Given the description of an element on the screen output the (x, y) to click on. 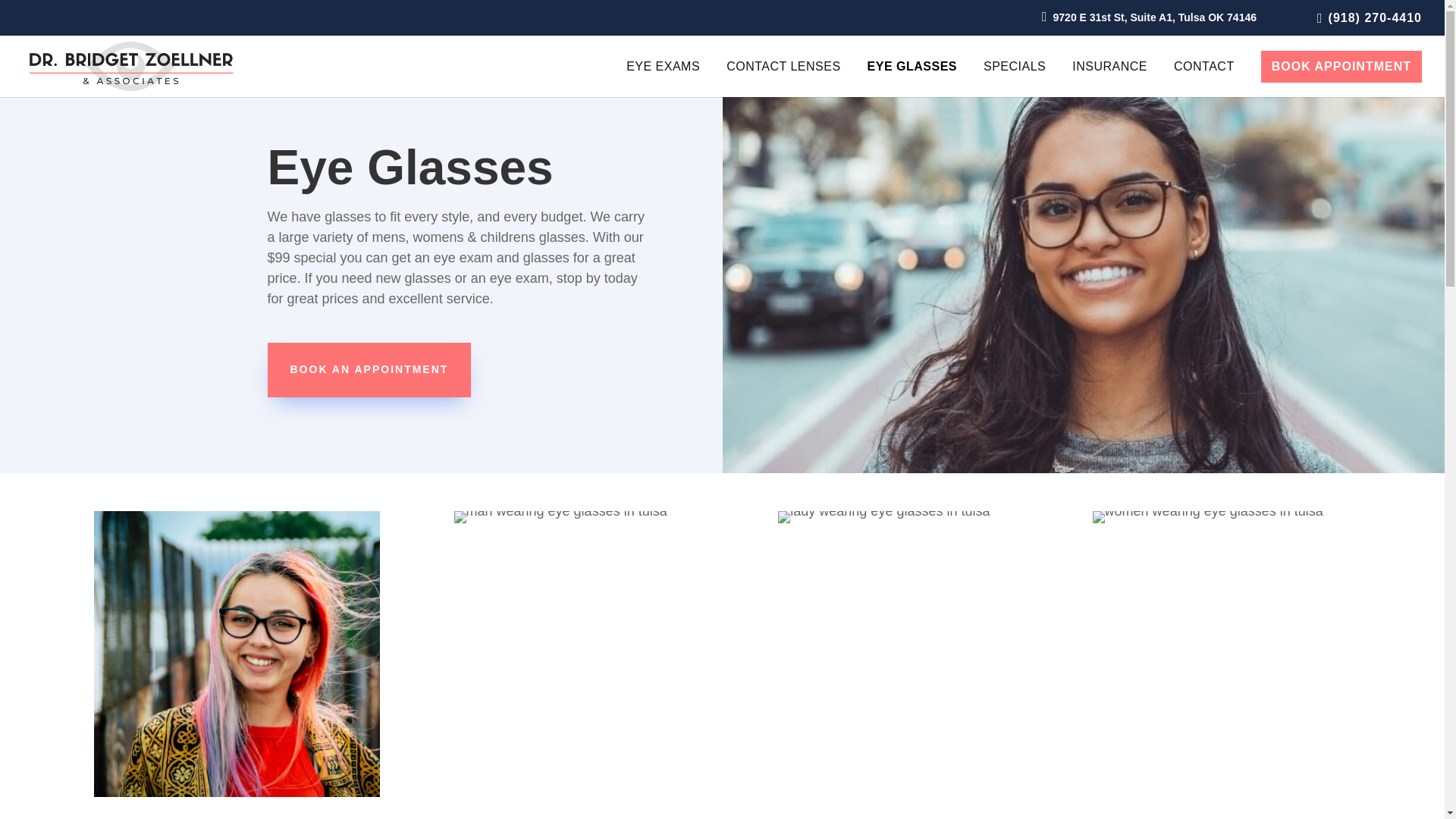
CONTACT (1203, 79)
man wearing eye glasses in tulsa (560, 517)
BOOK AN APPOINTMENT (368, 370)
EYE EXAMS (663, 79)
women wearing eye glasses in tulsa (1208, 517)
SPECIALS (1014, 79)
CONTACT LENSES (783, 79)
INSURANCE (1109, 79)
lady wearing eye glasses in tulsa (883, 517)
EYE GLASSES (911, 79)
